Given the description of an element on the screen output the (x, y) to click on. 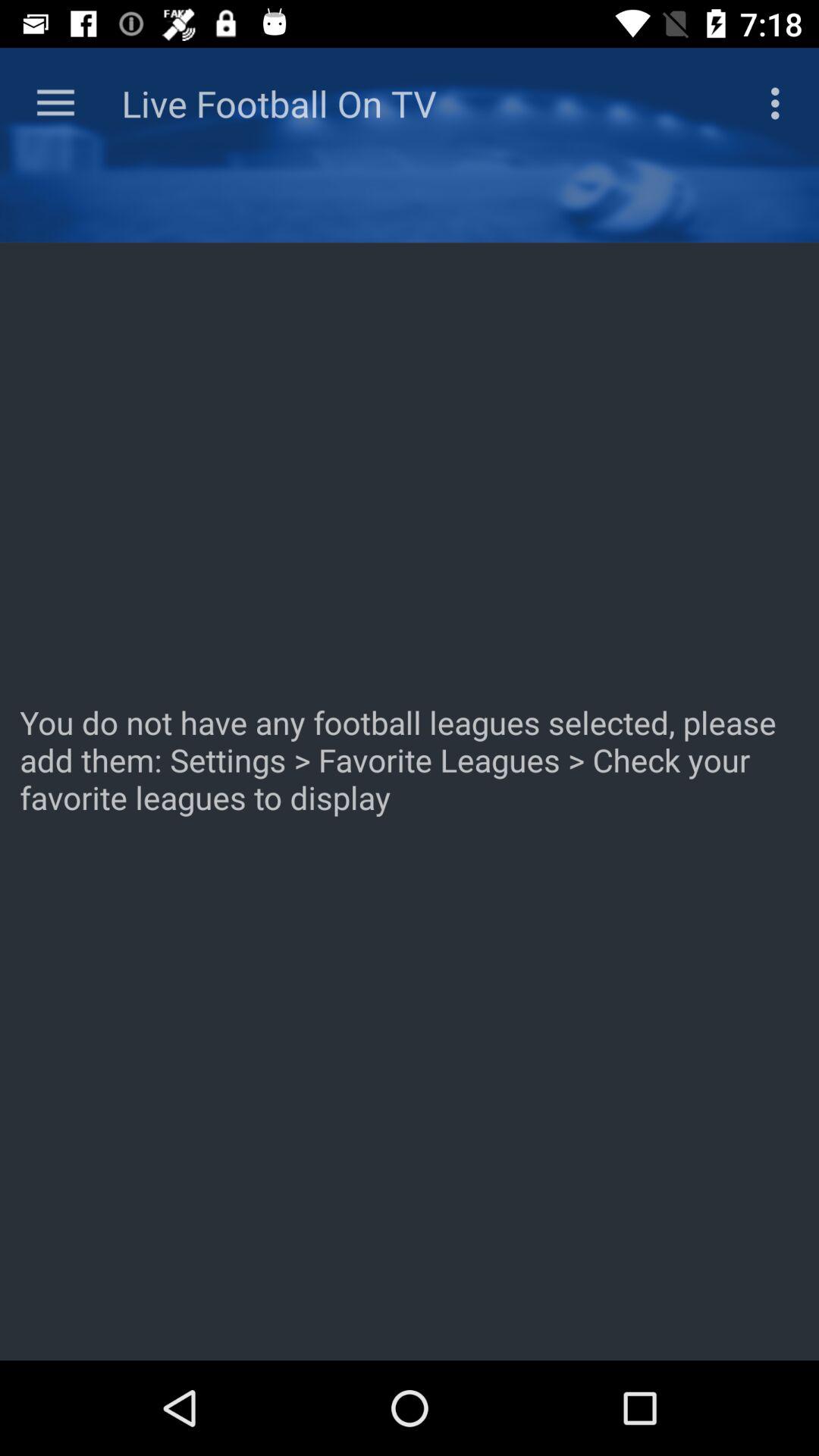
tap icon above you do not icon (55, 103)
